Given the description of an element on the screen output the (x, y) to click on. 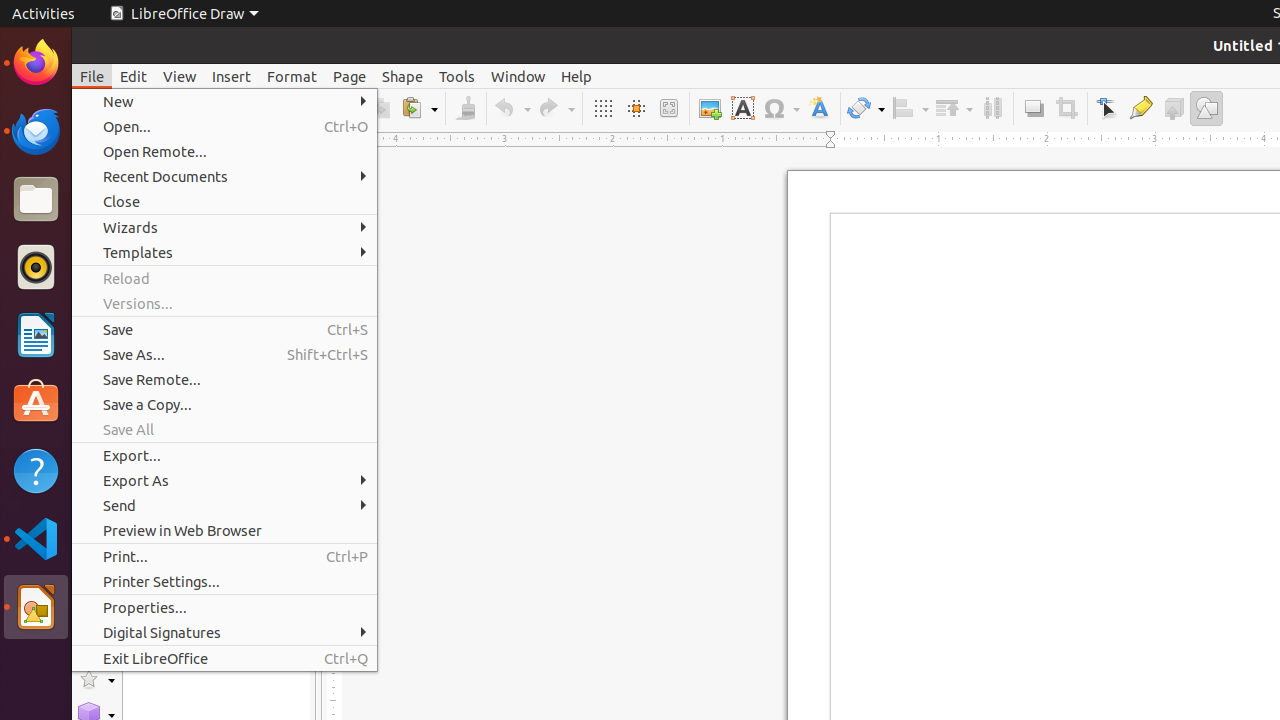
Symbol Element type: push-button (781, 108)
Fontwork Style Element type: toggle-button (819, 108)
File Element type: menu (92, 76)
Clone Element type: push-button (465, 108)
Open Remote... Element type: menu-item (224, 151)
